Given the description of an element on the screen output the (x, y) to click on. 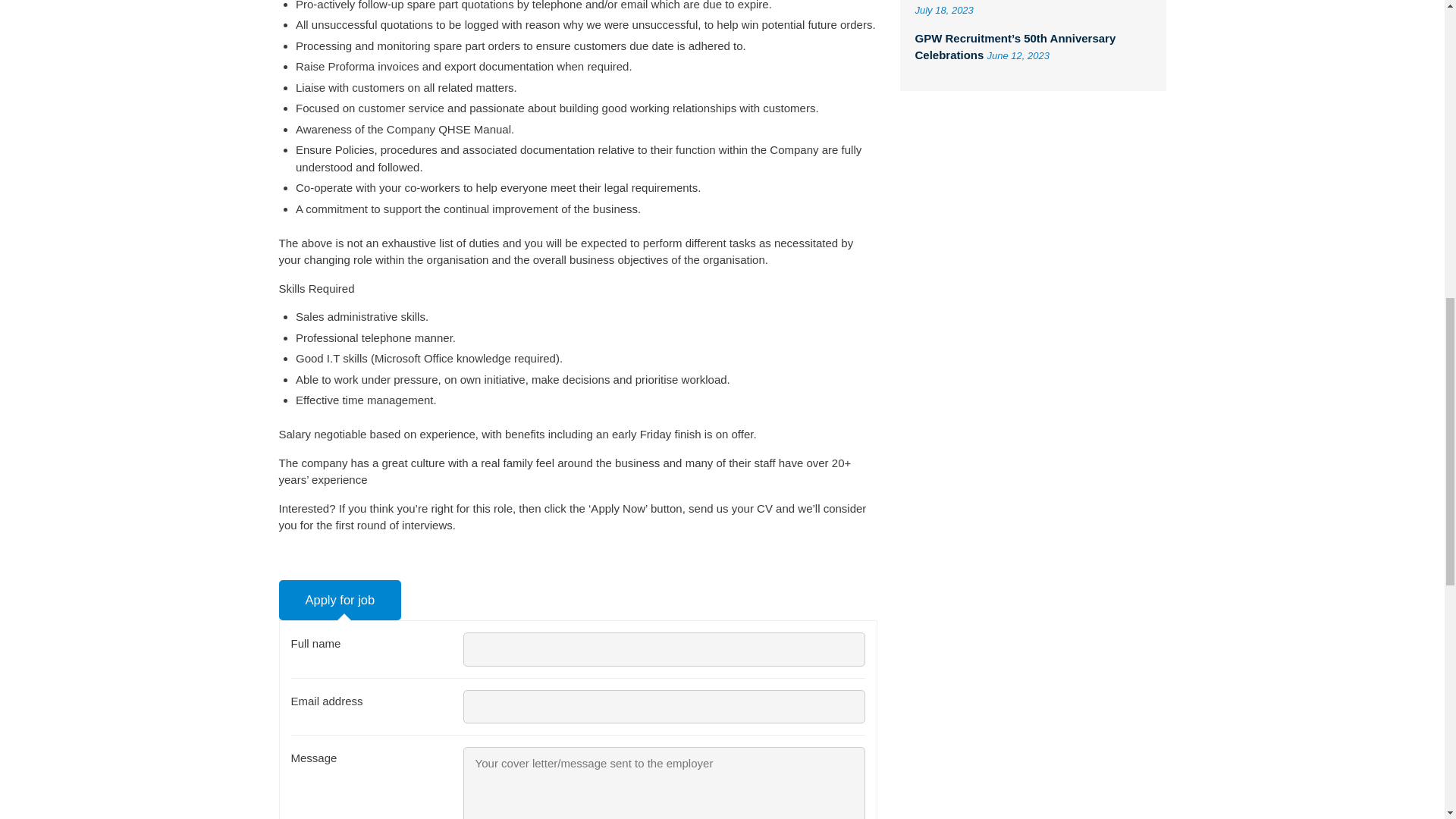
Apply for job (340, 599)
